Given the description of an element on the screen output the (x, y) to click on. 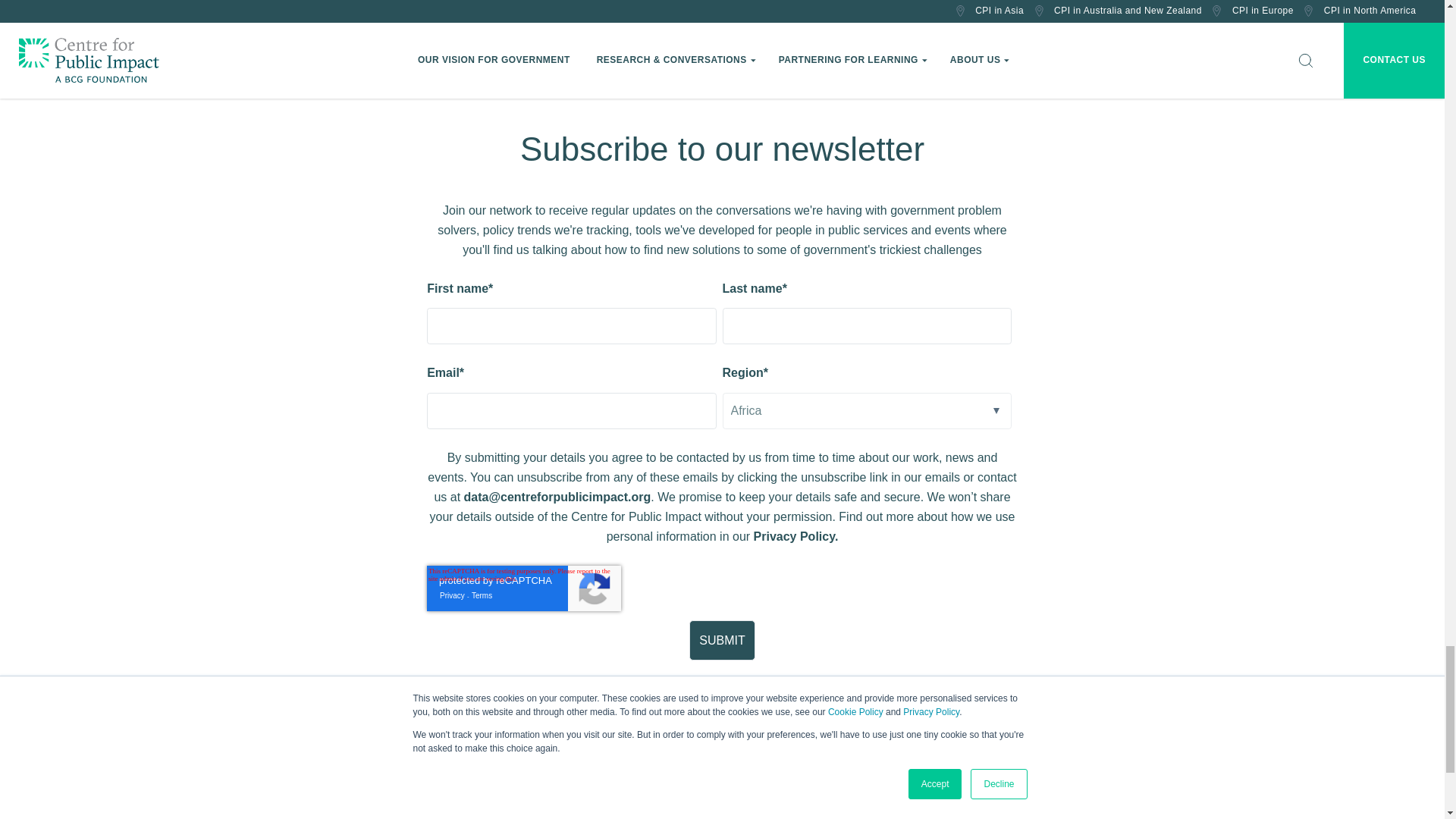
Submit (721, 639)
reCAPTCHA (523, 587)
